Given the description of an element on the screen output the (x, y) to click on. 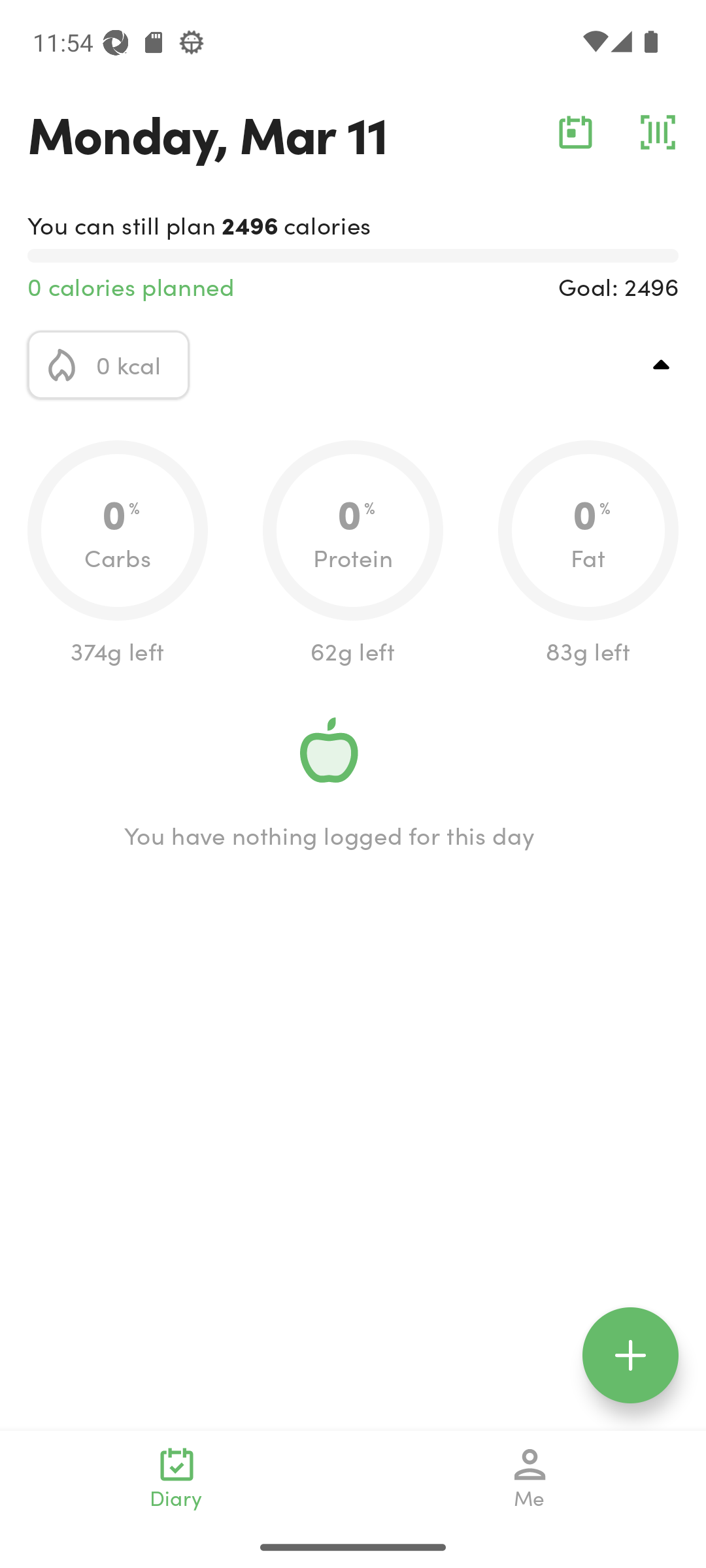
calendar_action (575, 132)
barcode_action (658, 132)
calorie_icon 0 kcal (108, 365)
top_right_action (661, 365)
0.0 0 % Carbs 374g left (117, 553)
0.0 0 % Protein 62g left (352, 553)
0.0 0 % Fat 83g left (588, 553)
floating_action_icon (630, 1355)
Me navigation_icon (529, 1478)
